Given the description of an element on the screen output the (x, y) to click on. 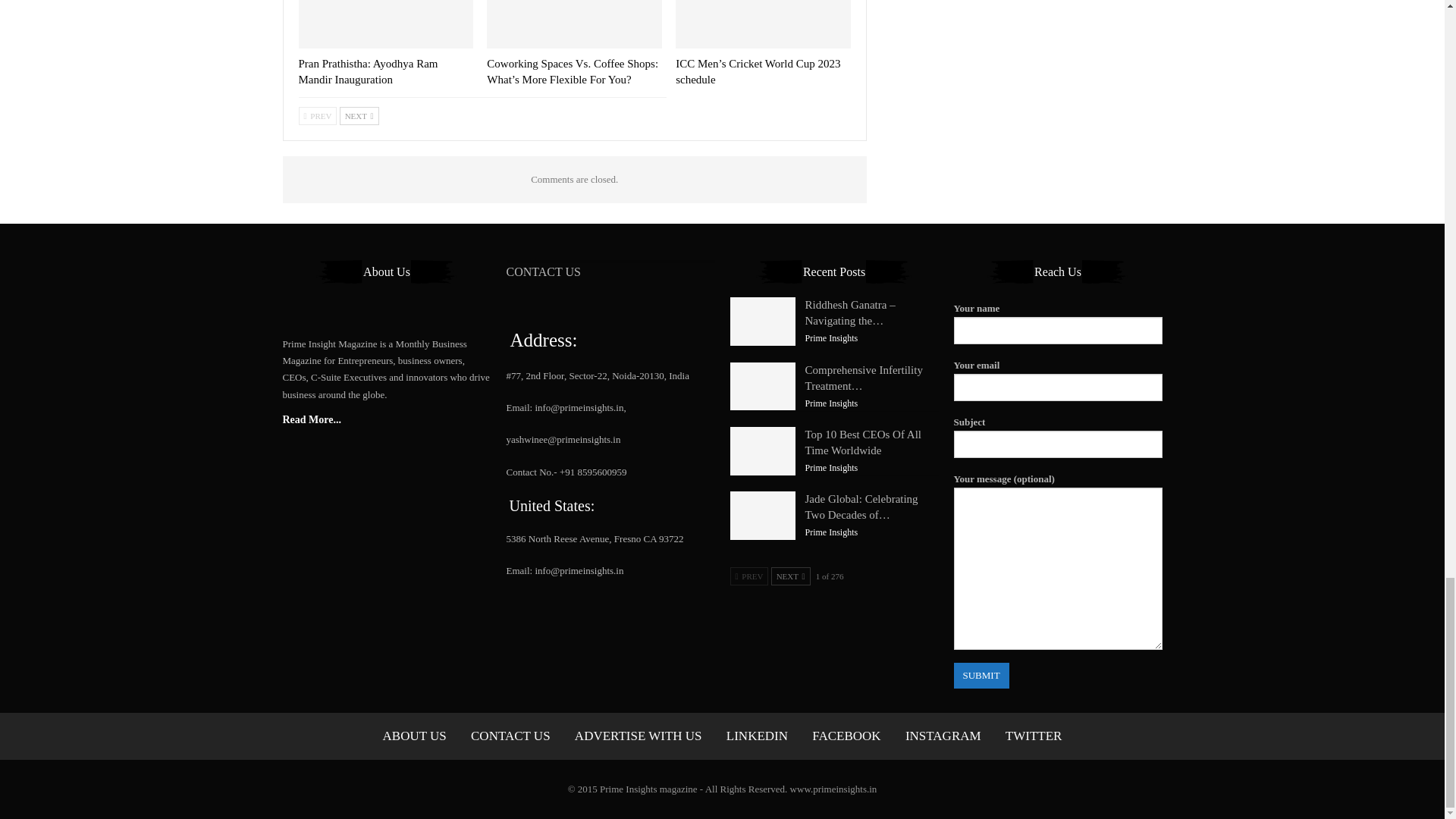
Pran Prathistha: Ayodhya Ram Mandir Inauguration (386, 24)
Submit (981, 675)
Pran Prathistha: Ayodhya Ram Mandir Inauguration (368, 71)
